Given the description of an element on the screen output the (x, y) to click on. 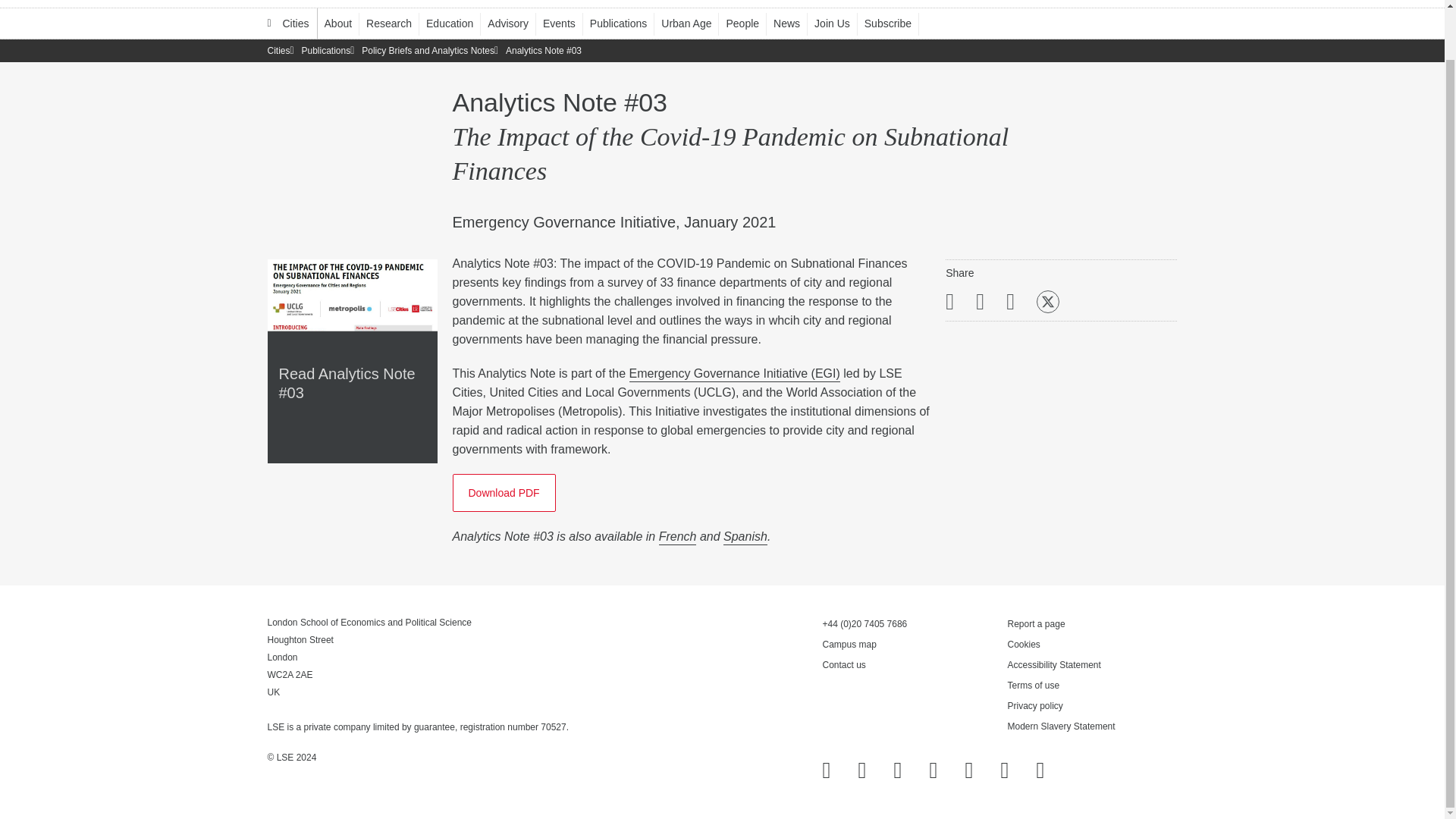
Subscribe (895, 23)
Cities (288, 23)
Advisory (515, 23)
Search (1077, 3)
Menu (1150, 3)
Research (396, 23)
About (345, 23)
LSE Cities (288, 23)
Join Us (838, 23)
Urban Age (693, 23)
